Given the description of an element on the screen output the (x, y) to click on. 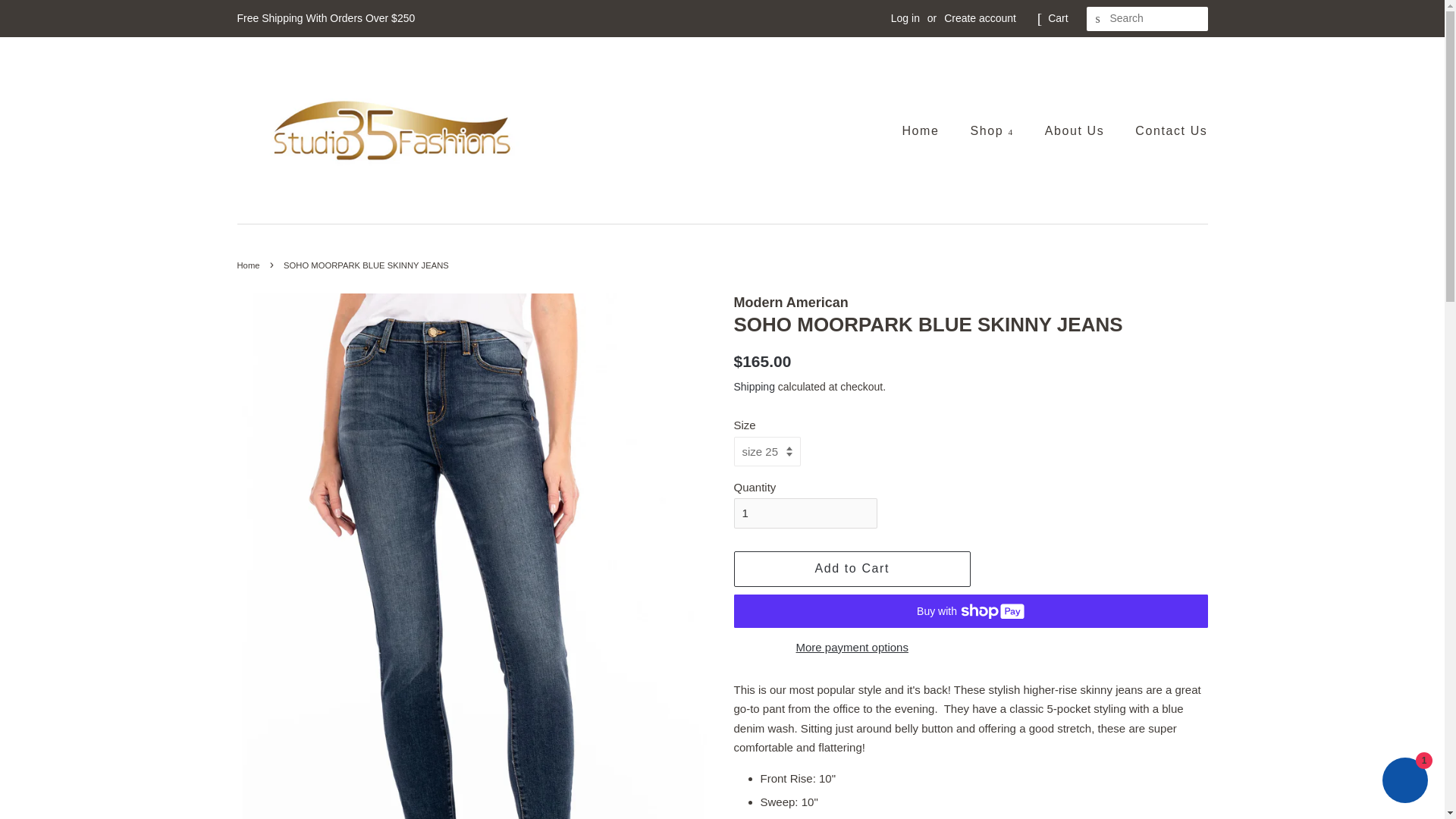
Shop (994, 130)
About Us (1076, 130)
Back to the frontpage (249, 265)
Page 7 (970, 794)
Log in (905, 18)
1 (805, 512)
Shopify online store chat (1404, 781)
Search (1097, 18)
Contact Us (1165, 130)
Cart (1057, 18)
Home (927, 130)
Create account (979, 18)
Home (249, 265)
